Given the description of an element on the screen output the (x, y) to click on. 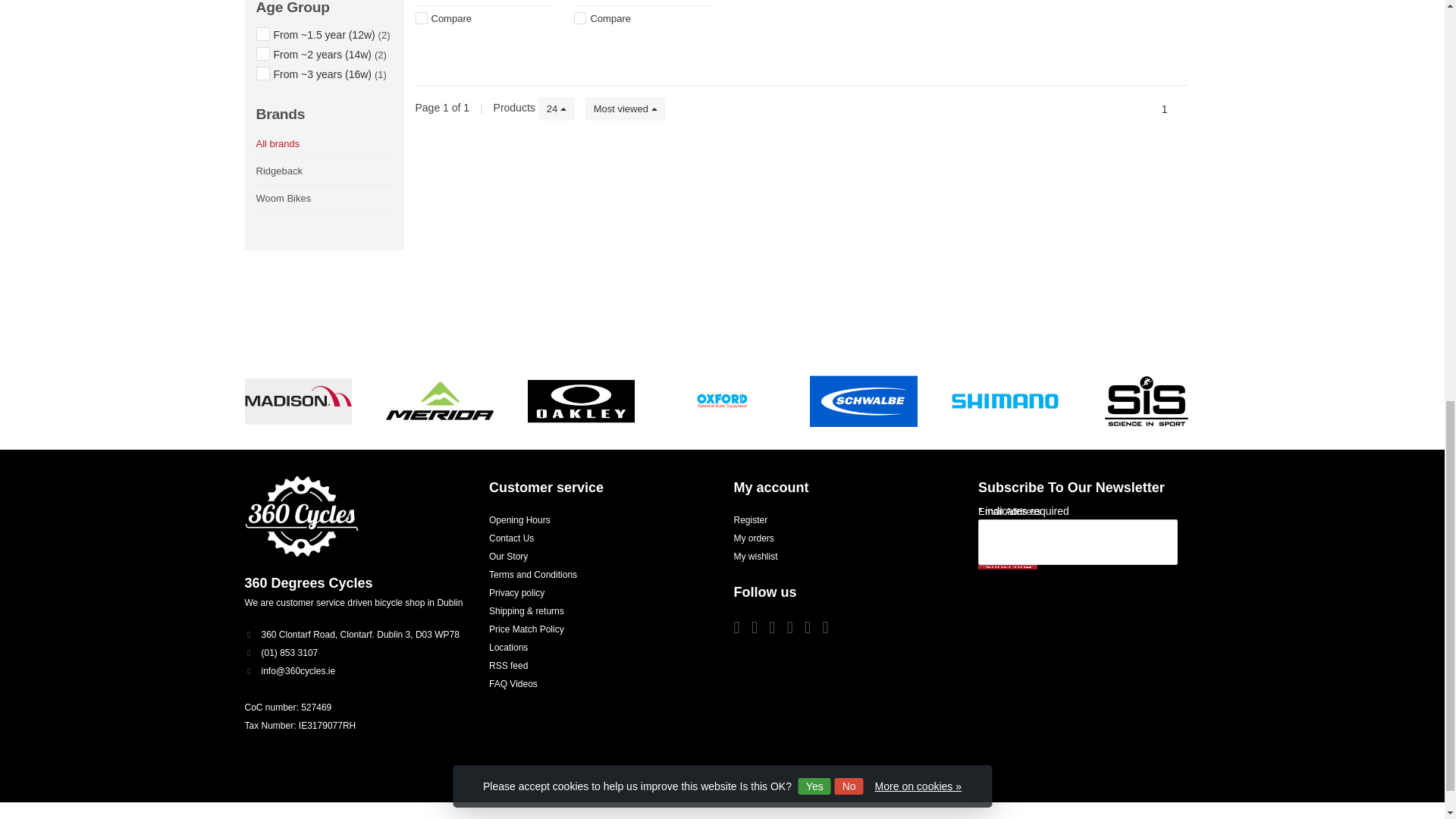
362414 (262, 73)
362408 (262, 34)
362411 (262, 53)
Subscribe (1007, 567)
